Given the description of an element on the screen output the (x, y) to click on. 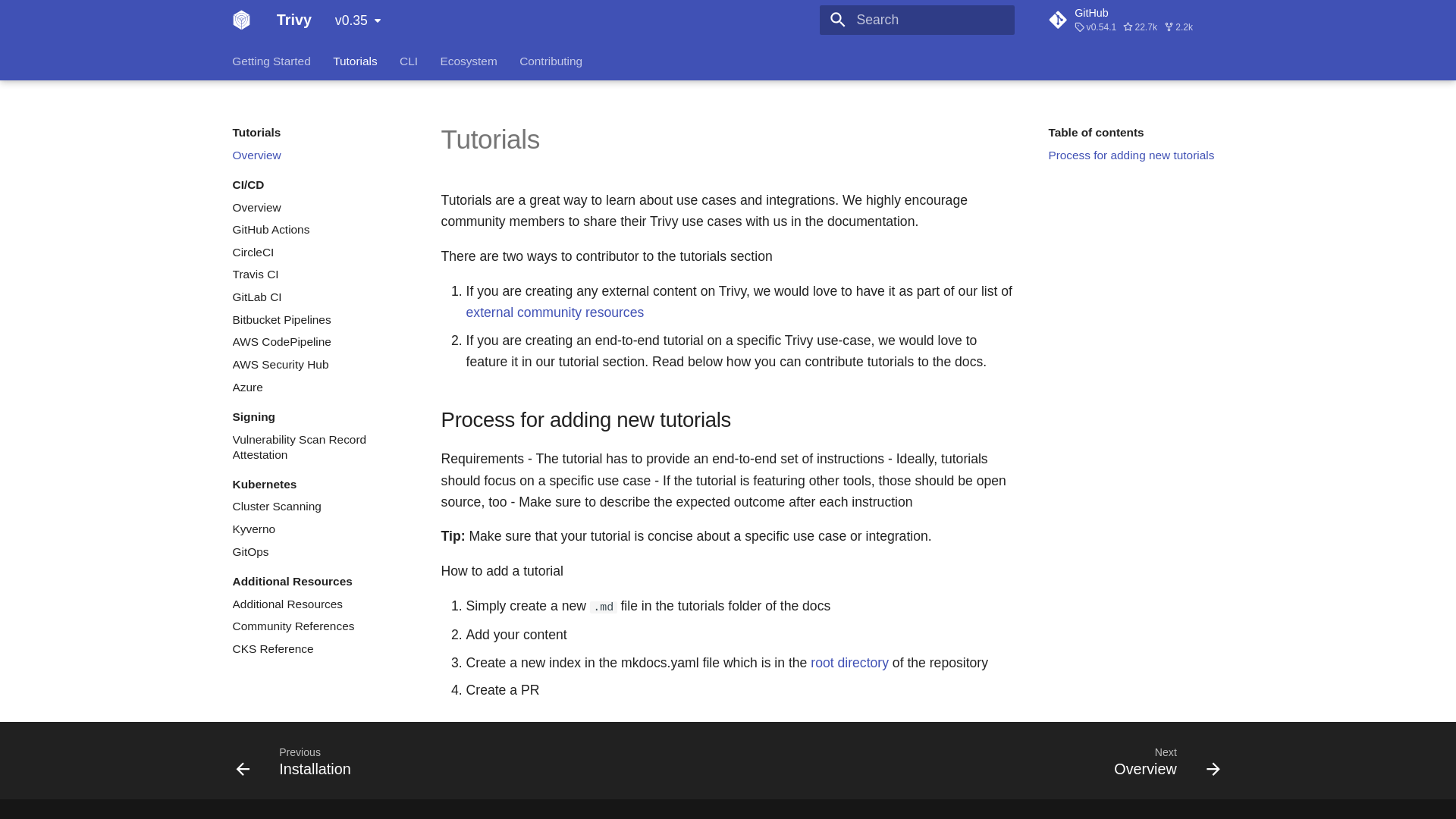
v0.35 (357, 20)
Trivy (241, 19)
Go to repository (1135, 20)
